Given the description of an element on the screen output the (x, y) to click on. 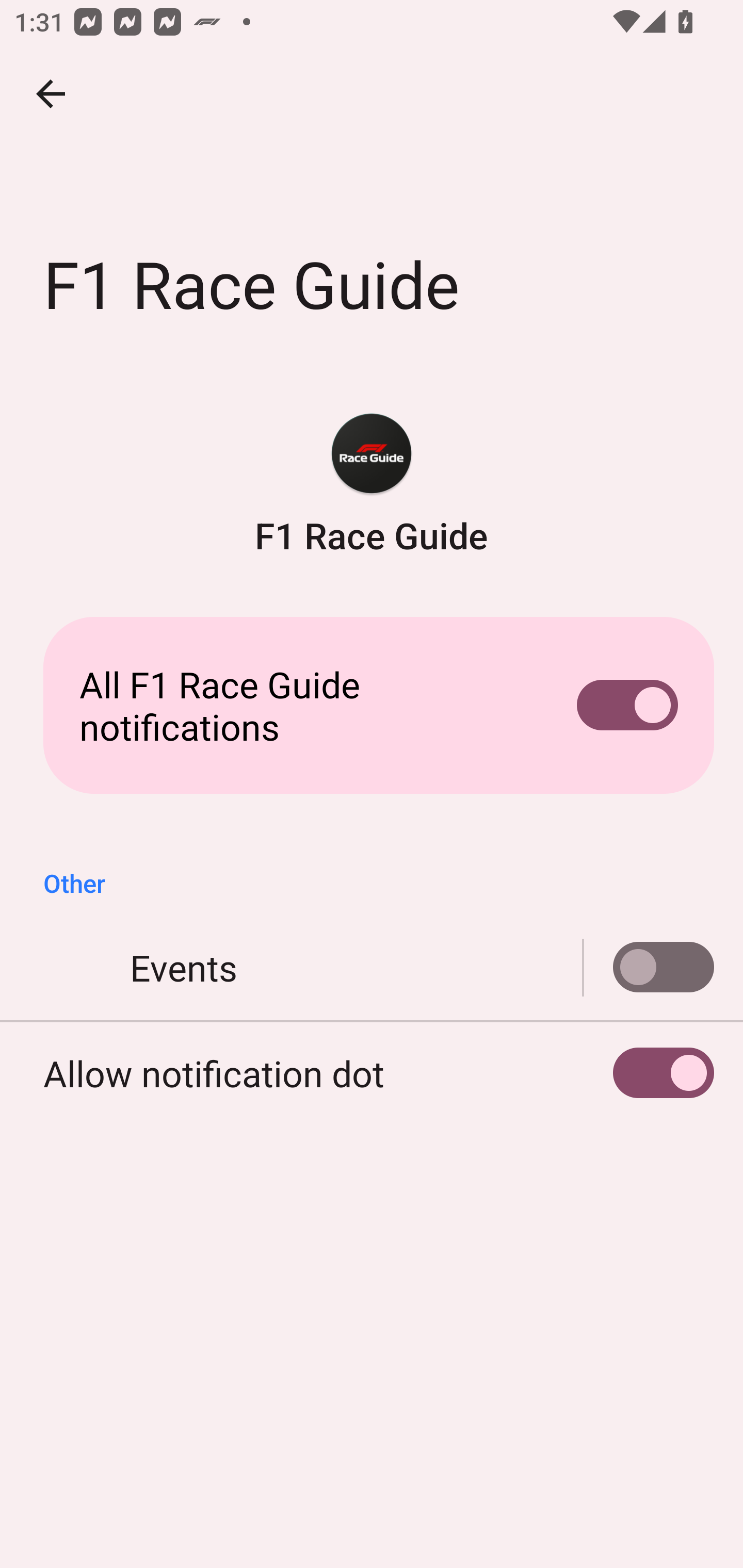
Navigate up (50, 93)
F1 Race Guide (371, 484)
All F1 Race Guide notifications (371, 705)
Events (371, 967)
Events (648, 967)
Allow notification dot (371, 1072)
